Given the description of an element on the screen output the (x, y) to click on. 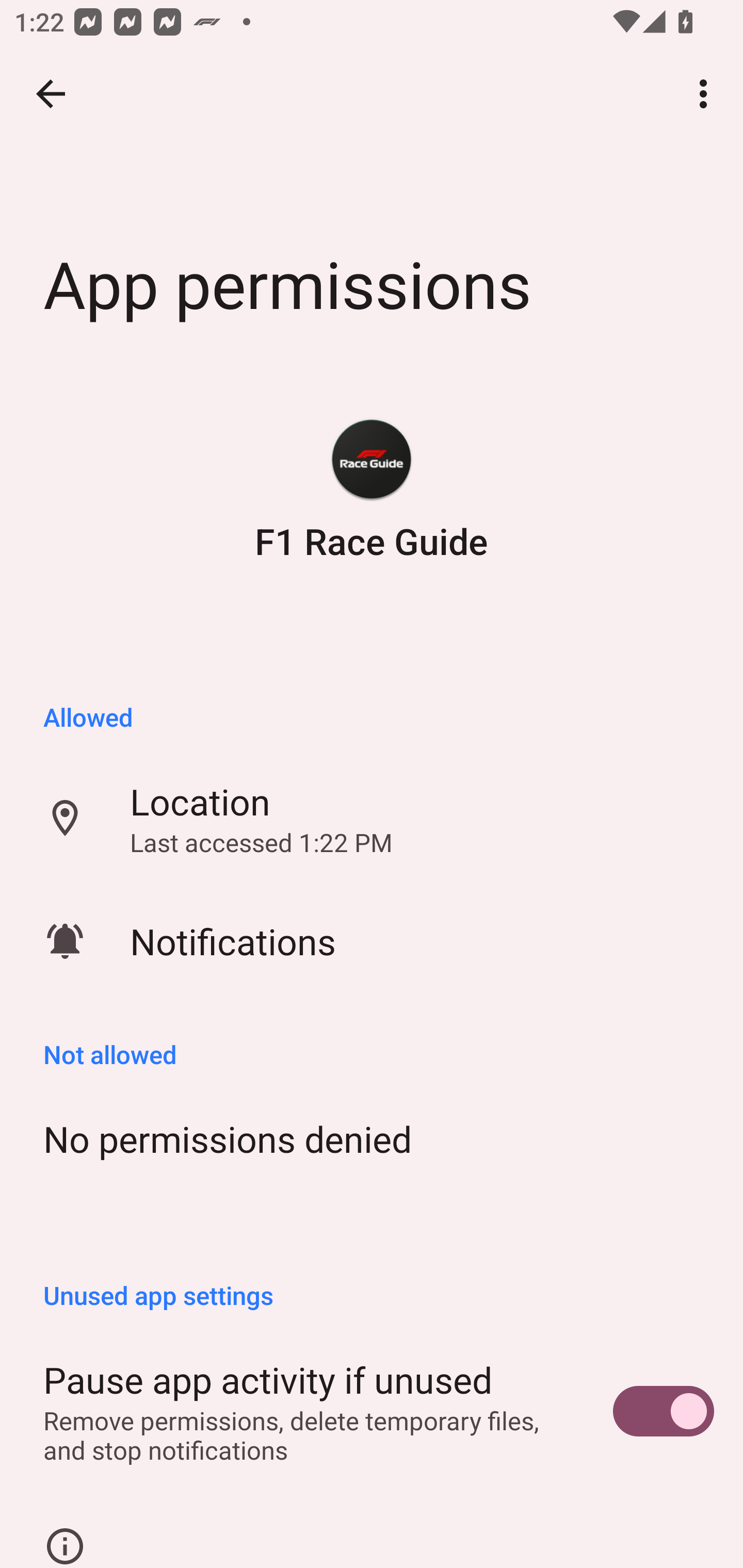
Back (50, 93)
More options (706, 93)
Location Last accessed 1:22 PM (371, 817)
Notifications (371, 940)
